Given the description of an element on the screen output the (x, y) to click on. 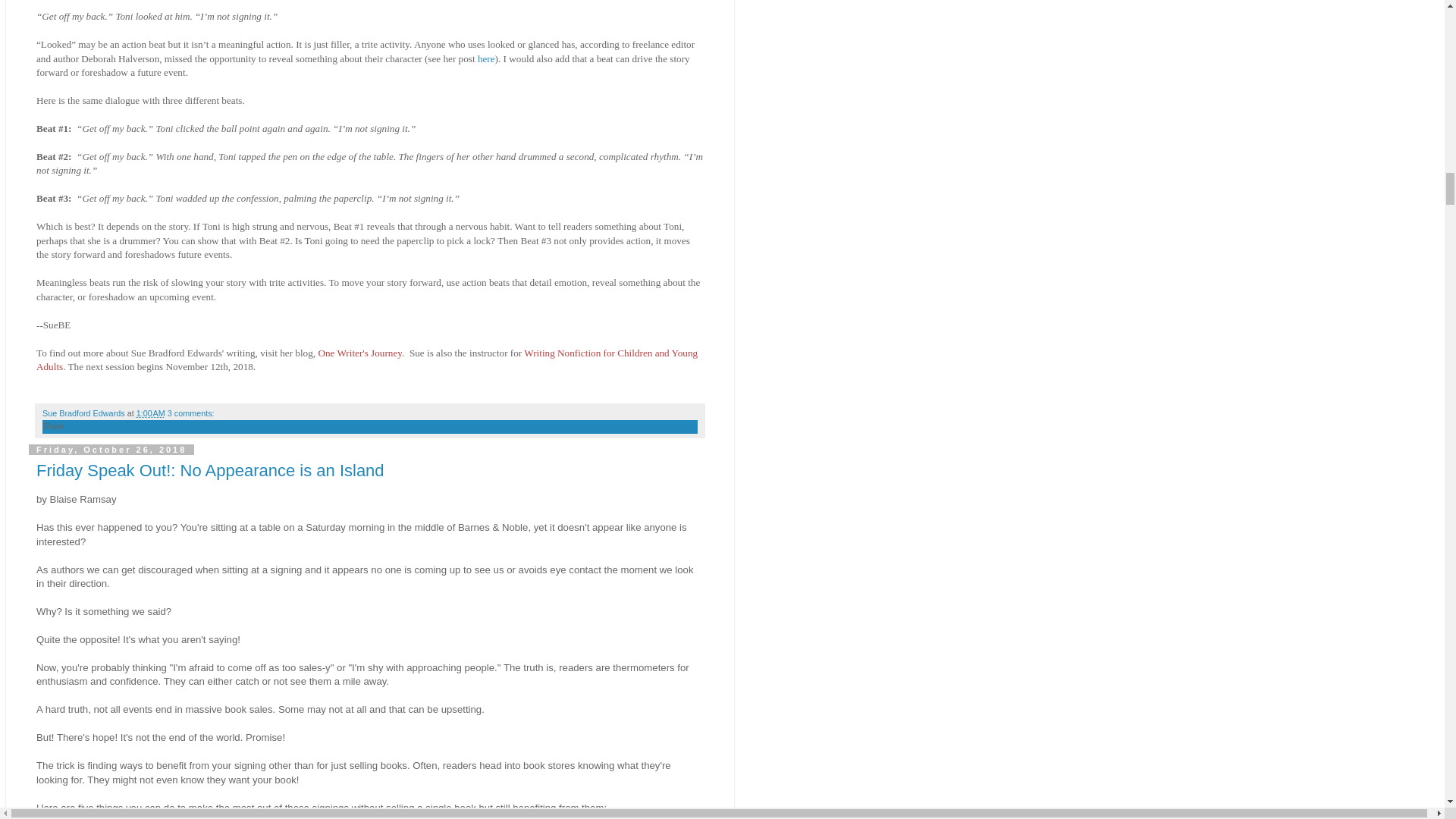
permanent link (150, 412)
author profile (85, 412)
here (486, 58)
